Given the description of an element on the screen output the (x, y) to click on. 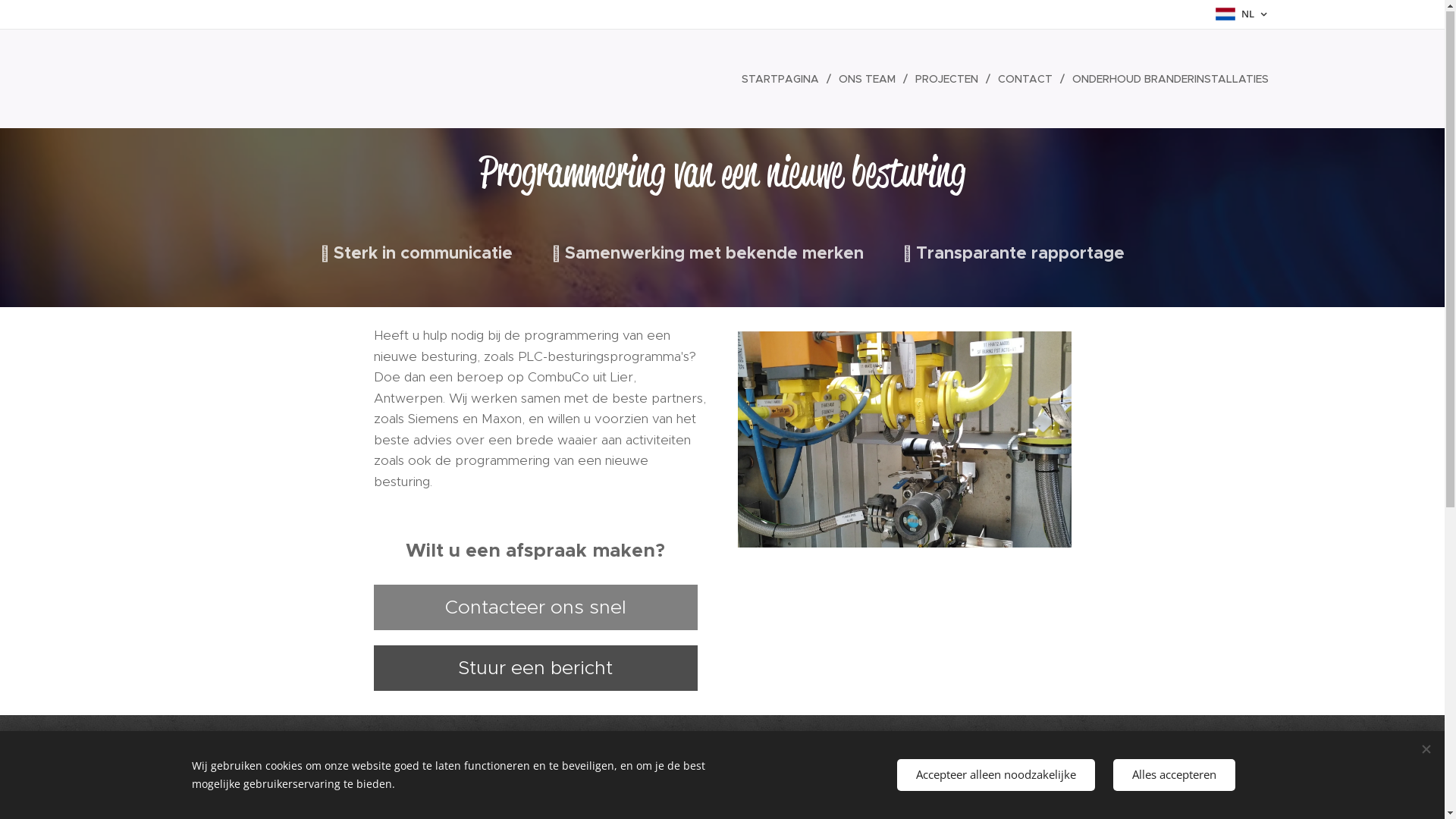
Accepteer alleen noodzakelijke Element type: text (995, 774)
PROJECTEN Element type: text (947, 79)
ONS TEAM Element type: text (869, 79)
Stuur een bericht Element type: text (534, 668)
CONTACT Element type: text (1027, 79)
Contacteer ons snel Element type: text (534, 607)
STARTPAGINA Element type: text (783, 79)
Alles accepteren Element type: text (1174, 774)
ONDERHOUD BRANDERINSTALLATIES Element type: text (1166, 79)
